Given the description of an element on the screen output the (x, y) to click on. 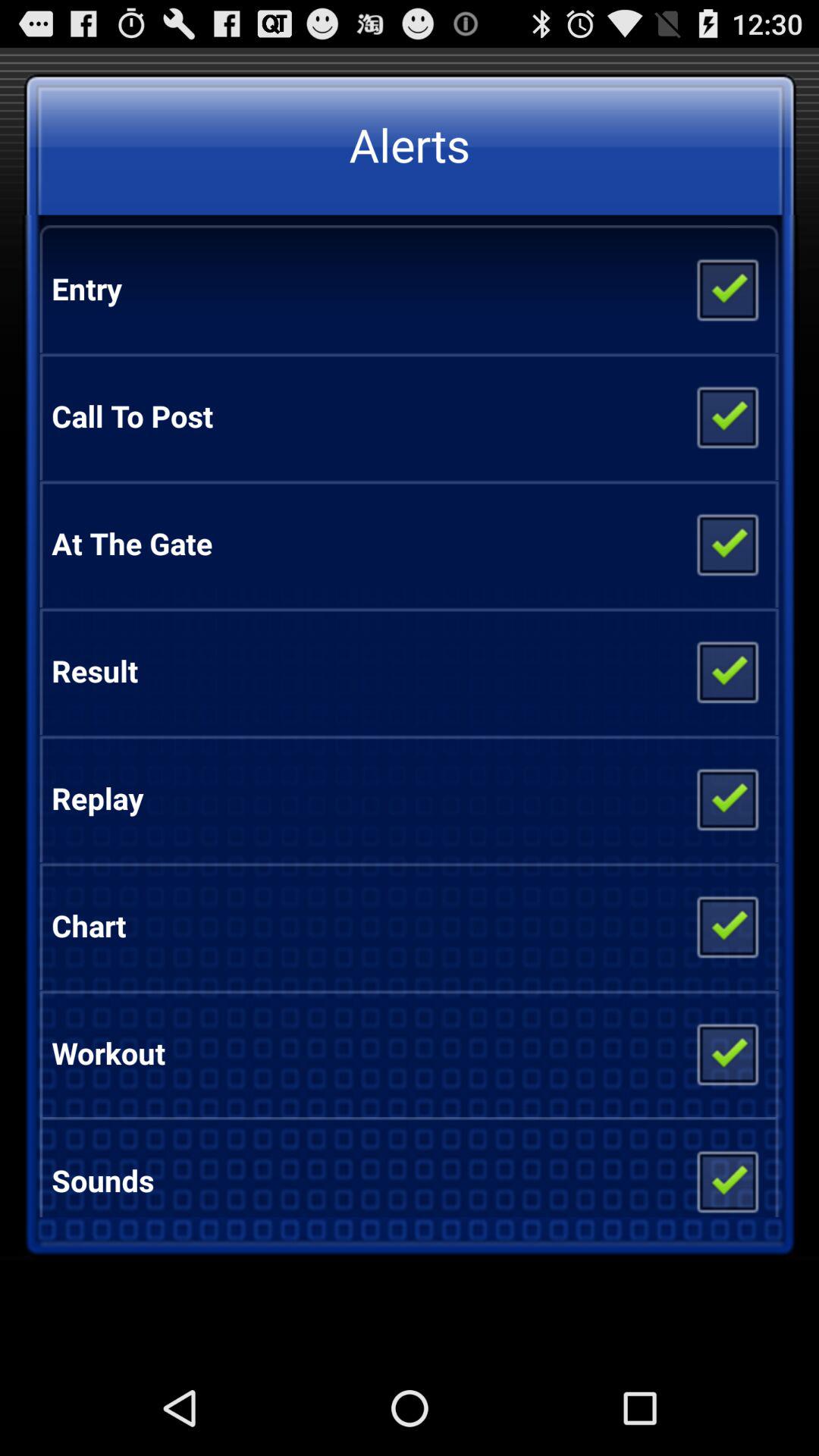
its a box with a green tick (726, 925)
